Given the description of an element on the screen output the (x, y) to click on. 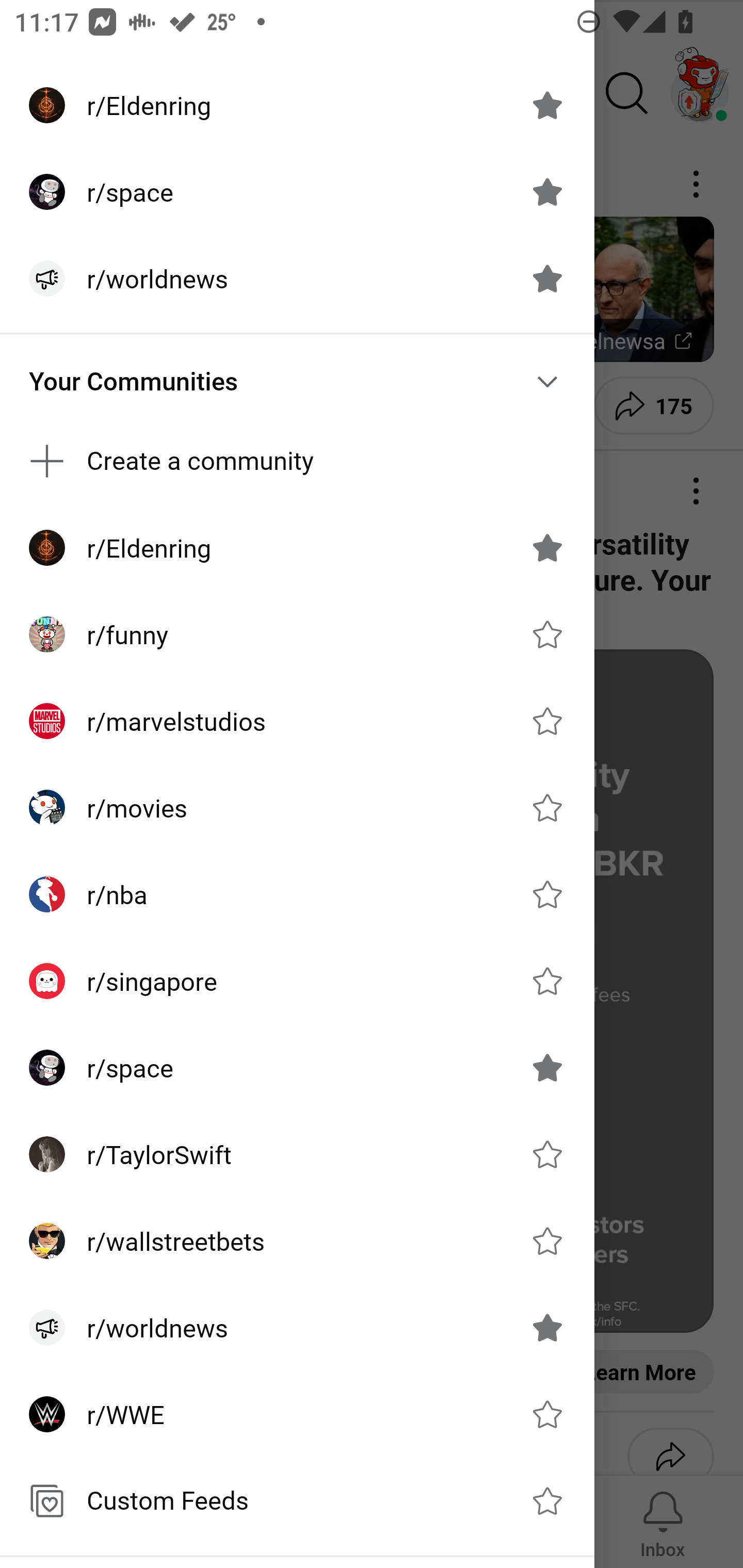
r/Eldenring Unfavorite r/Eldenring (297, 104)
Unfavorite r/Eldenring (546, 104)
r/space Unfavorite r/space (297, 191)
Unfavorite r/space (546, 192)
r/worldnews Unfavorite r/worldnews (297, 278)
Unfavorite r/worldnews (546, 278)
Your Communities (297, 380)
Create a community (297, 460)
r/Eldenring Unfavorite r/Eldenring (297, 547)
Unfavorite r/Eldenring (546, 548)
r/funny Favorite r/funny (297, 634)
Favorite r/funny (546, 634)
r/marvelstudios Favorite r/marvelstudios (297, 721)
Favorite r/marvelstudios (546, 721)
r/movies Favorite r/movies (297, 808)
Favorite r/movies (546, 807)
r/nba Favorite r/nba (297, 894)
Favorite r/nba (546, 894)
r/singapore Favorite r/singapore (297, 980)
Favorite r/singapore (546, 980)
r/space Unfavorite r/space (297, 1067)
Unfavorite r/space (546, 1067)
r/TaylorSwift Favorite r/TaylorSwift (297, 1154)
Favorite r/TaylorSwift (546, 1154)
r/wallstreetbets Favorite r/wallstreetbets (297, 1240)
Favorite r/wallstreetbets (546, 1241)
r/worldnews Unfavorite r/worldnews (297, 1327)
Unfavorite r/worldnews (546, 1327)
r/WWE Favorite r/WWE (297, 1414)
Favorite r/WWE (546, 1414)
Custom Feeds (297, 1501)
